Given the description of an element on the screen output the (x, y) to click on. 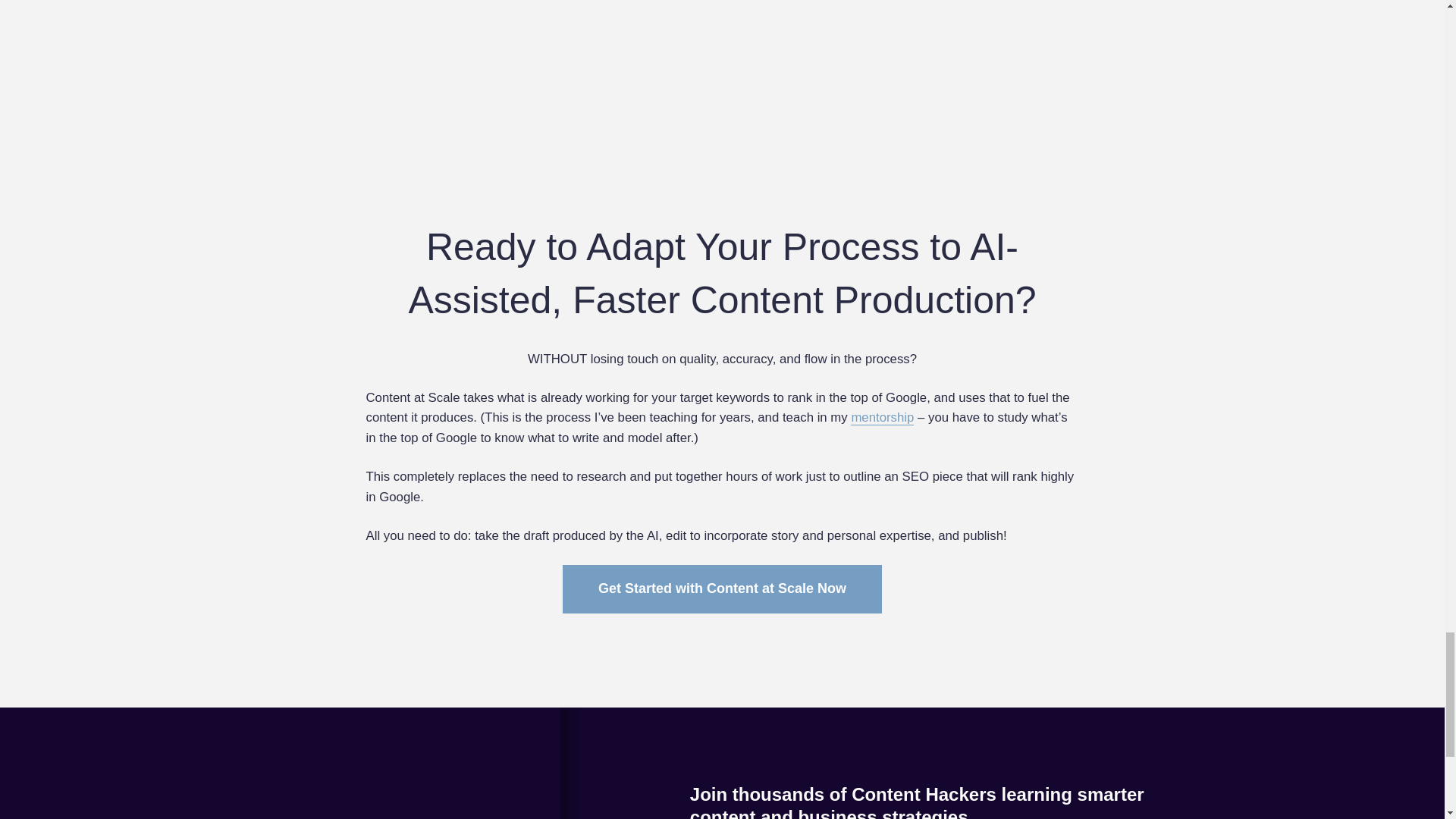
Get Started with Content at Scale Now (722, 589)
mentorship (882, 417)
